Given the description of an element on the screen output the (x, y) to click on. 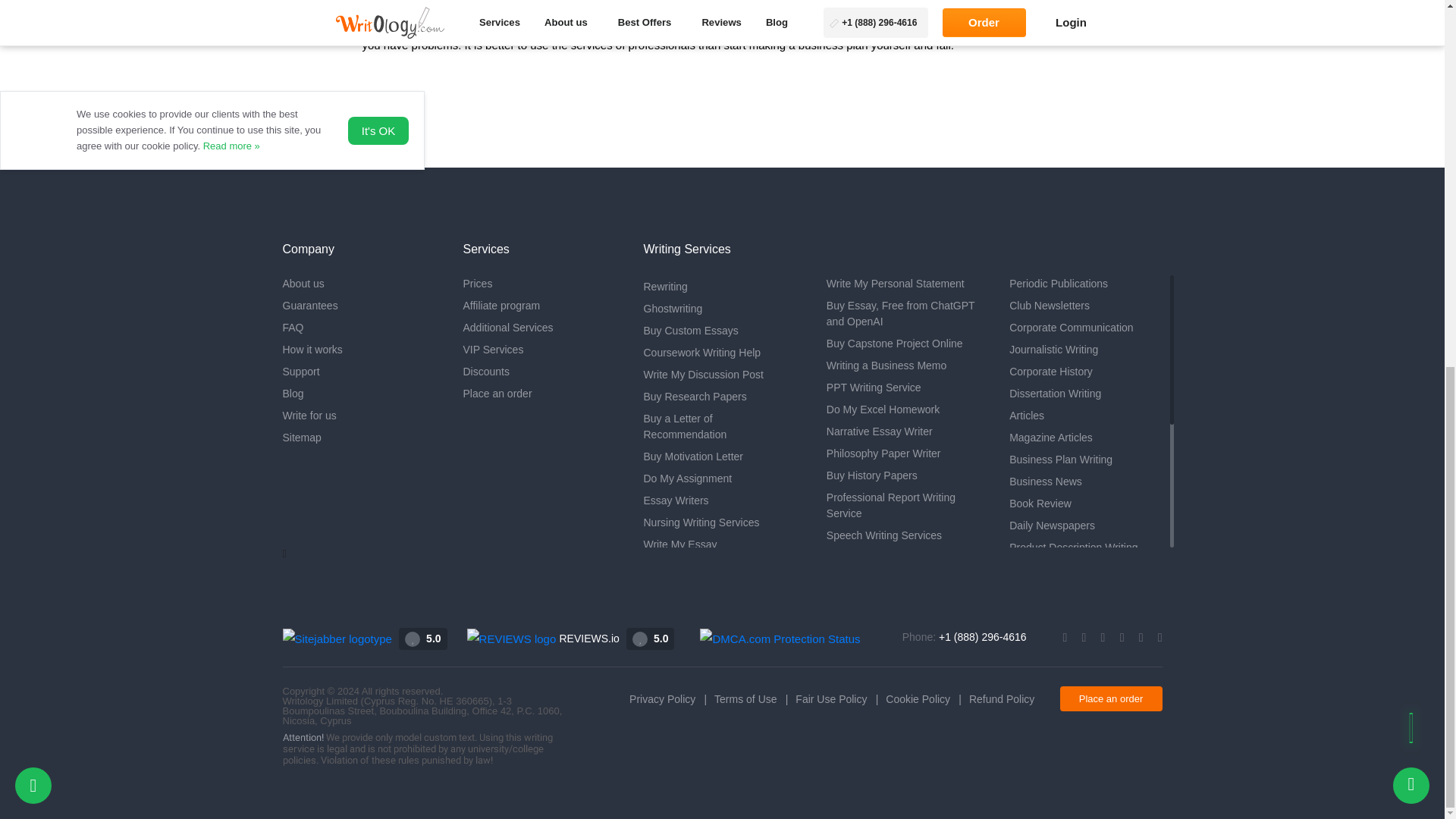
Affiliate program (541, 305)
Write for us (360, 415)
Place an order (541, 393)
Prices (541, 283)
Live Chat (1411, 125)
Blog (360, 393)
Support (360, 371)
How it works (360, 349)
Reviews.io (543, 636)
Discounts (541, 371)
